Given the description of an element on the screen output the (x, y) to click on. 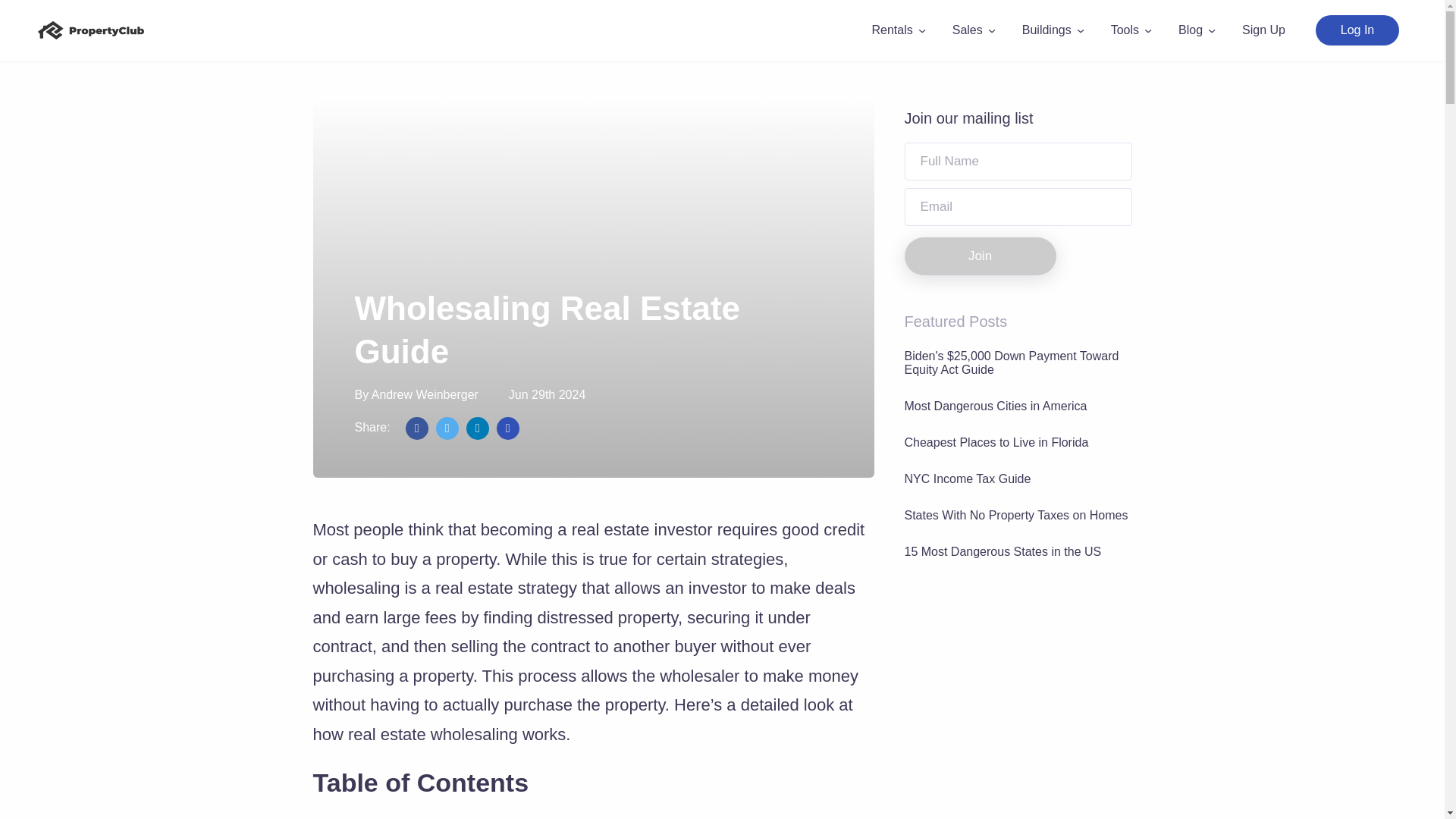
Buildings (1051, 29)
Rentals (895, 29)
Sales (971, 29)
